Given the description of an element on the screen output the (x, y) to click on. 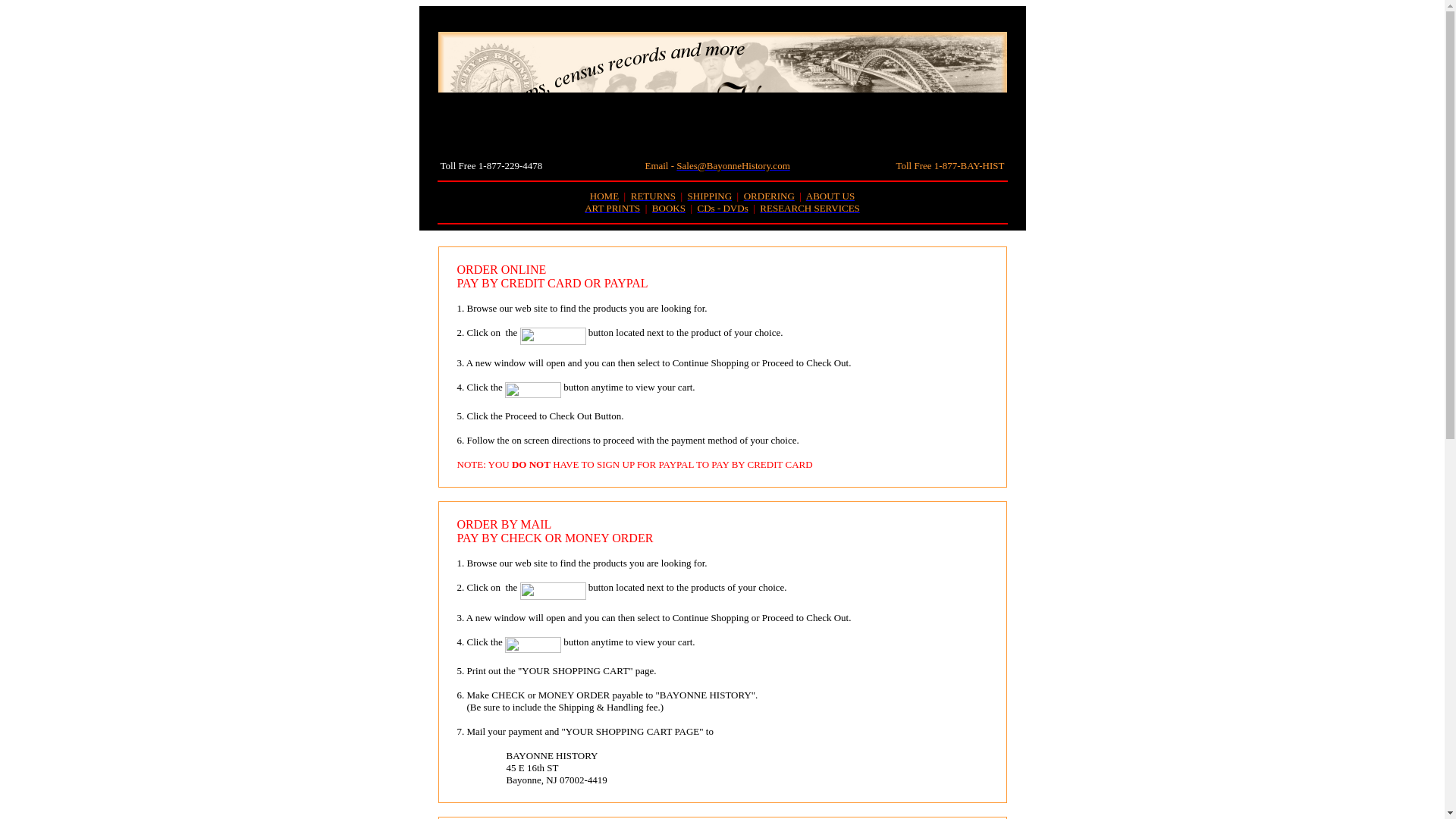
CDs - DVDs (722, 207)
HOME (603, 195)
View Art Prints. (612, 207)
Our selection of books. (668, 207)
Our return policy. (652, 195)
ORDERING (769, 195)
Read our "About Us" page. (830, 195)
BOOKS (668, 207)
RESEARCH SERVICES (810, 207)
RESEARCH SERVICES NOW AVAILABLE (810, 207)
